Given the description of an element on the screen output the (x, y) to click on. 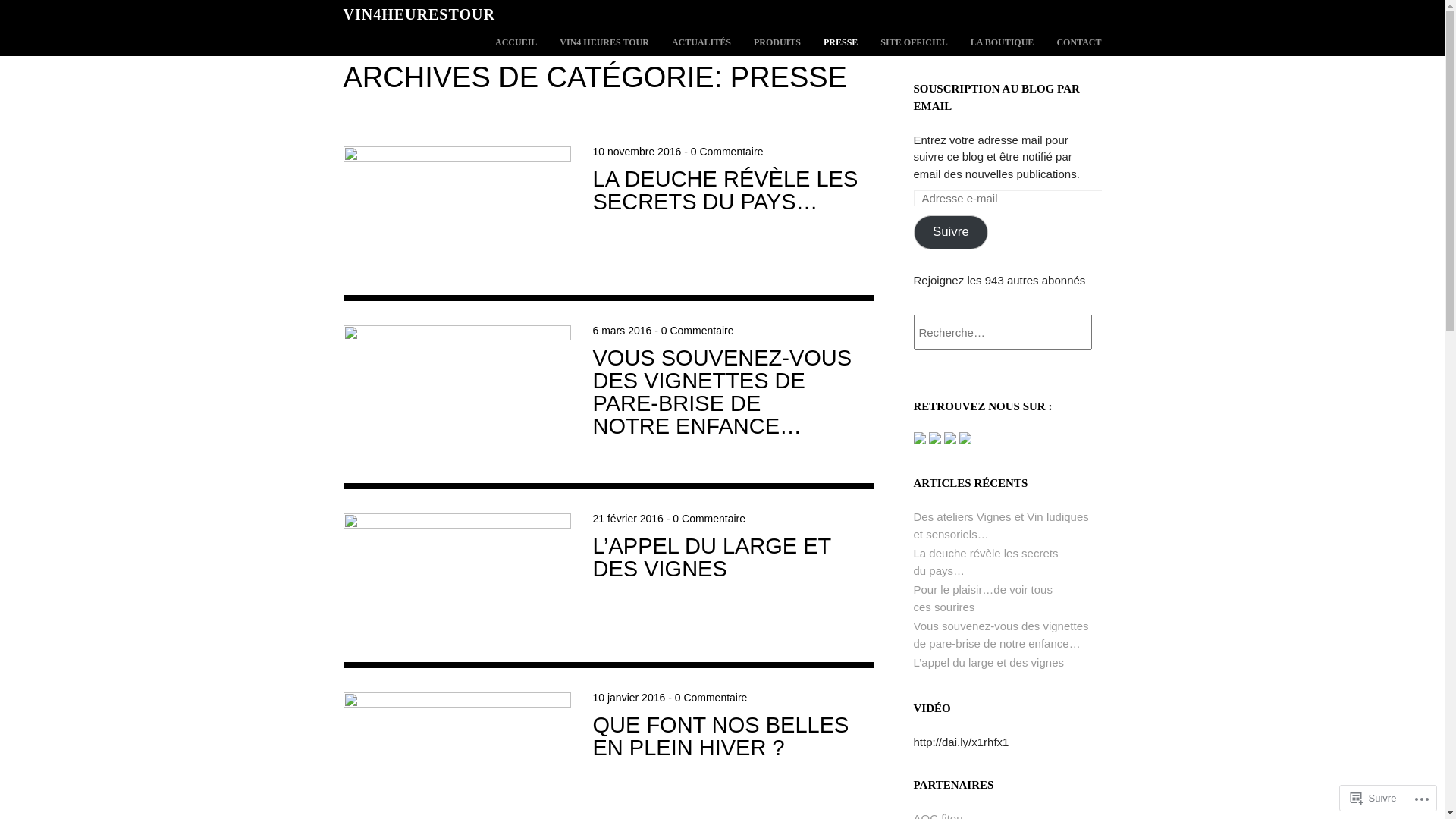
SITE OFFICIEL Element type: text (913, 42)
0 Commentaire Element type: text (710, 697)
0 Commentaire Element type: text (708, 518)
Se connecter sur Facebook de vin4 heures tour Element type: hover (920, 439)
Syndiquer ce site par syndication RSS Element type: hover (951, 439)
PRESSE Element type: text (840, 42)
6 mars 2016 Element type: text (622, 330)
PRODUITS Element type: text (776, 42)
Se connecter sur Twitter de vin4 heures tour Element type: hover (936, 439)
CONTACT Element type: text (1078, 42)
Suivre Element type: text (950, 232)
LA BOUTIQUE Element type: text (1002, 42)
ACCUEIL Element type: text (515, 42)
0 Commentaire Element type: text (726, 151)
10 novembre 2016 Element type: text (637, 151)
Rechercher Element type: text (57, 9)
Contacter vin4 heures tour Element type: hover (965, 439)
VIN4 HEURES TOUR Element type: text (604, 42)
0 Commentaire Element type: text (697, 330)
10 janvier 2016 Element type: text (629, 697)
VIN4HEURESTOUR Element type: text (418, 14)
Suivre Element type: text (1373, 797)
ALLER AU CONTENU PRINCIPAL Element type: text (549, 42)
QUE FONT NOS BELLES EN PLEIN HIVER ? Element type: text (721, 735)
